Given the description of an element on the screen output the (x, y) to click on. 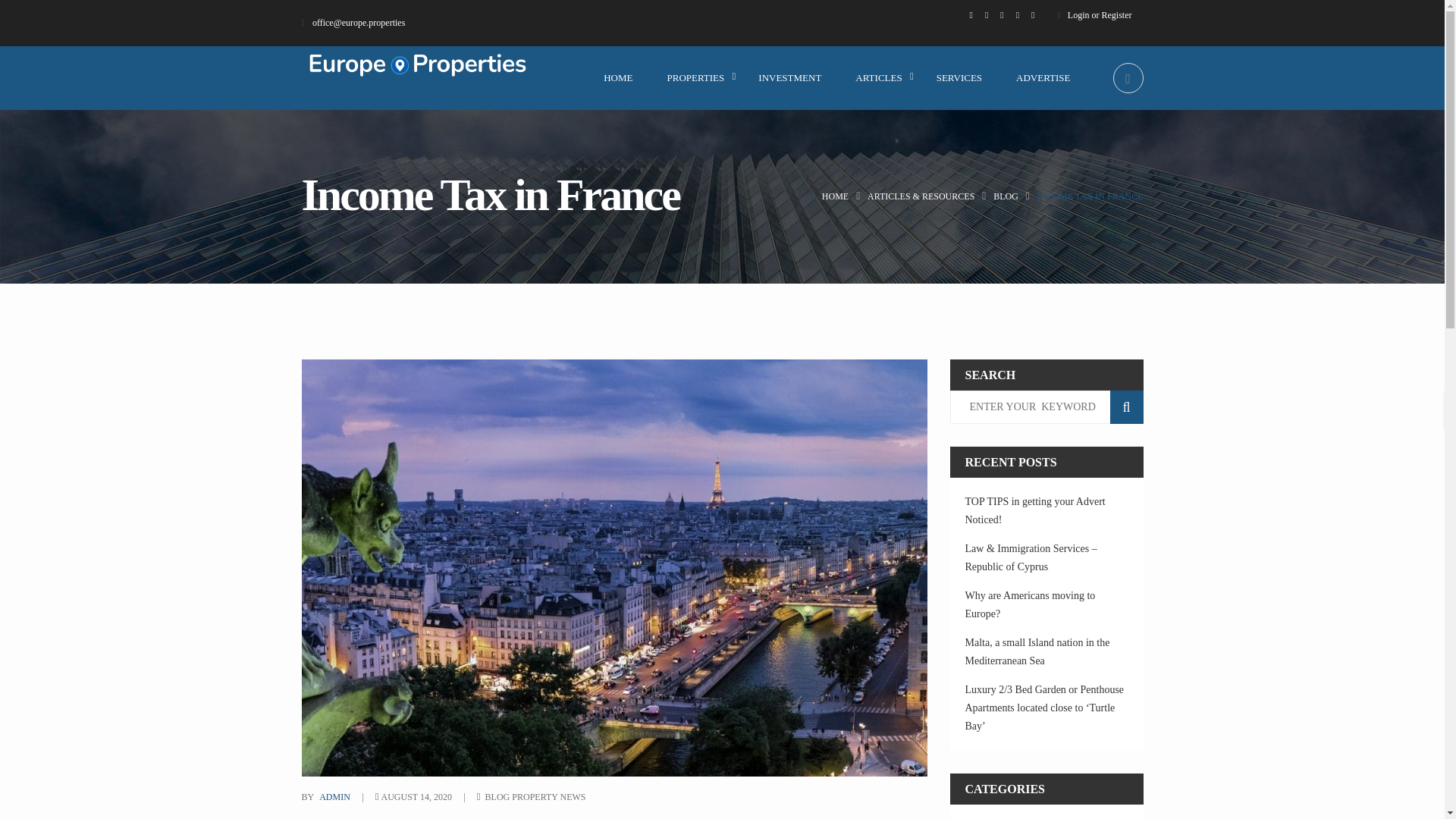
ARTICLES (878, 77)
PROPERTIES (695, 77)
ADVERTISE (1043, 77)
INVESTMENT (789, 77)
Login or Register (1099, 14)
Blog (497, 797)
SERVICES (958, 77)
Blog (1004, 195)
HOME (617, 77)
Property News (548, 797)
